Given the description of an element on the screen output the (x, y) to click on. 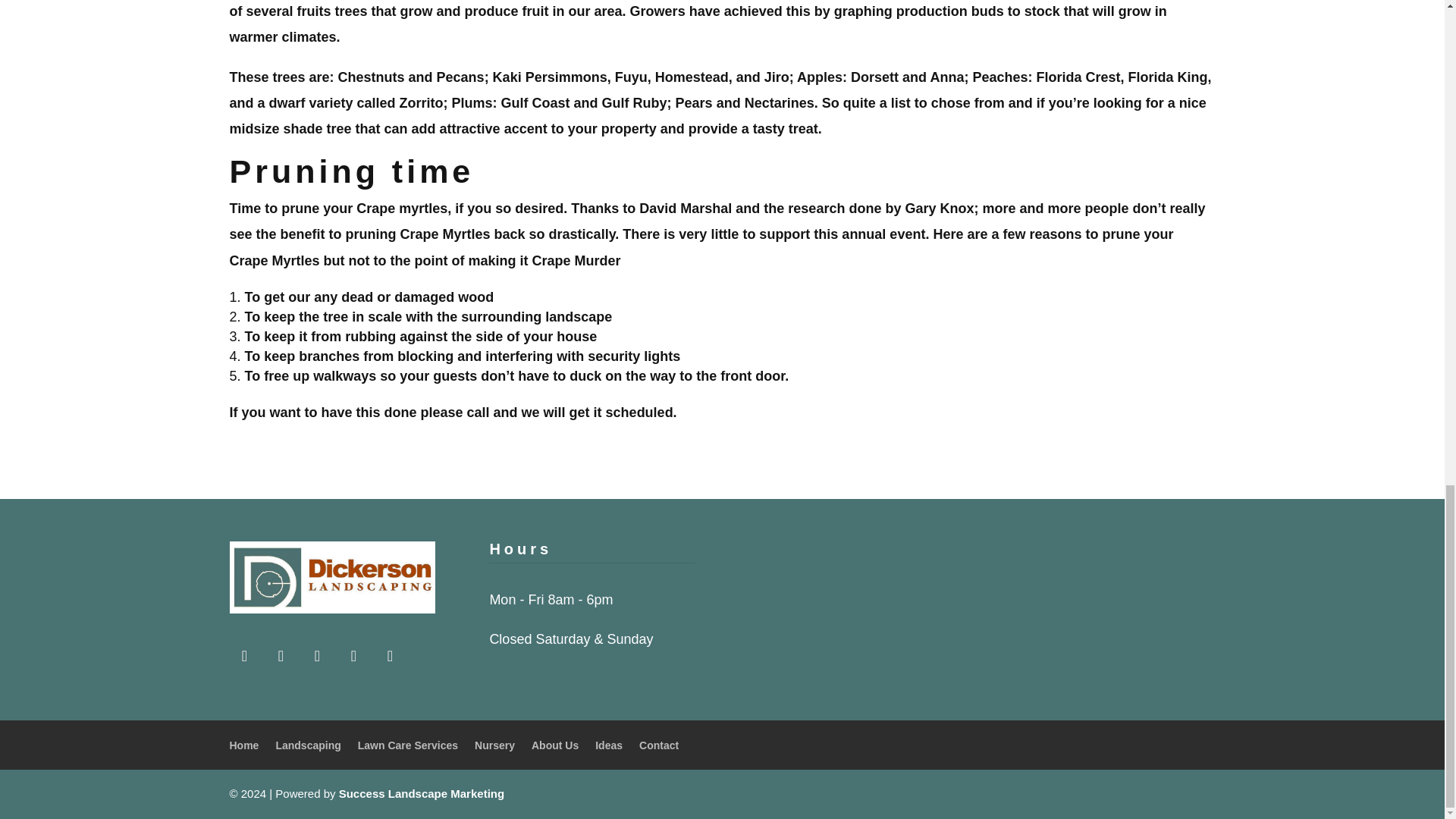
Follow on Instagram (243, 655)
Follow on LinkedIn (352, 655)
Follow on Pinterest (279, 655)
Follow on Youtube (316, 655)
Follow on Facebook (389, 655)
